Given the description of an element on the screen output the (x, y) to click on. 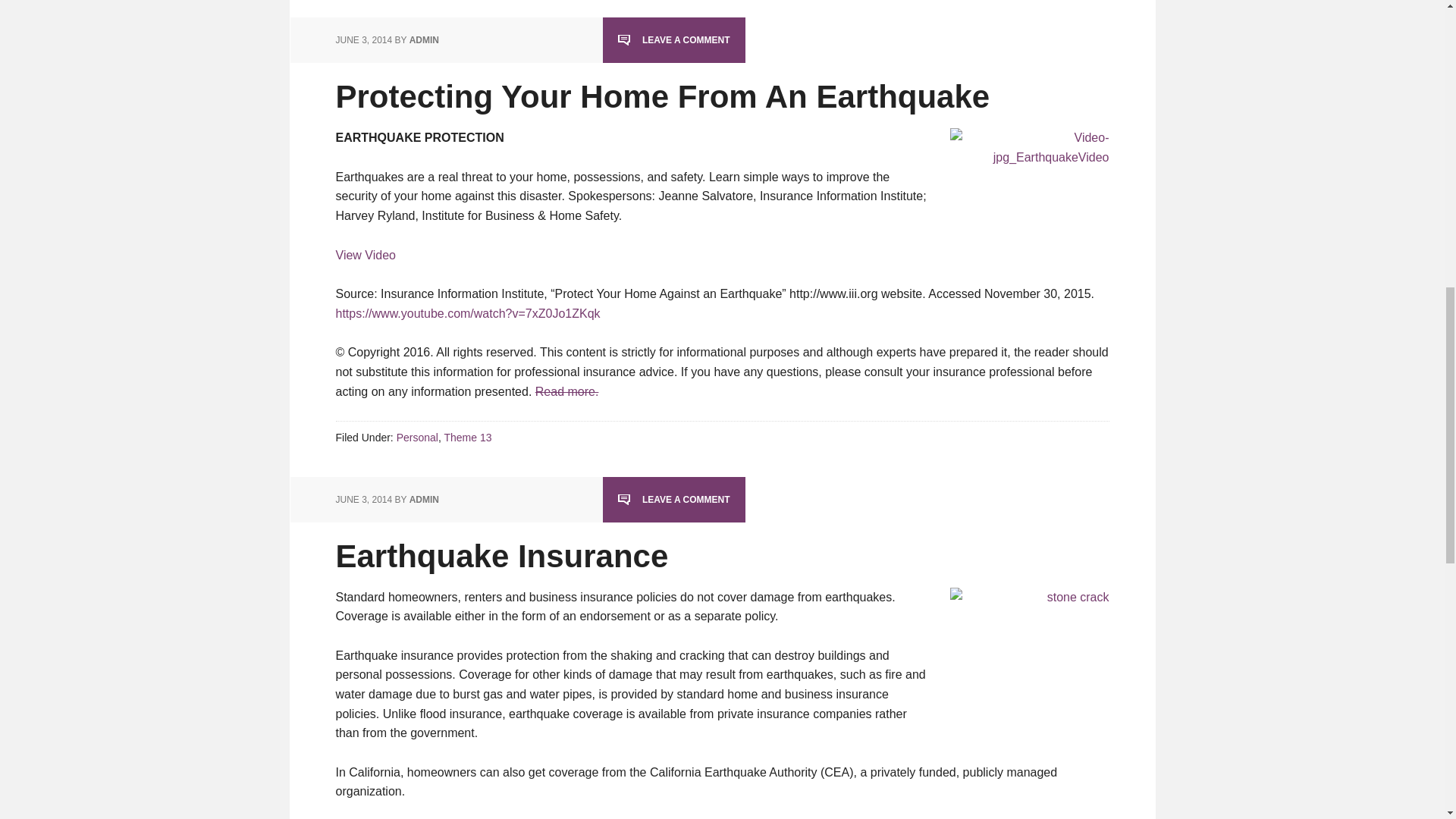
Theme 13 (468, 437)
Protecting Your Home From An Earthquake (662, 96)
ADMIN (424, 499)
View Video (364, 254)
ADMIN (424, 40)
Earthquake Insurance (501, 556)
LEAVE A COMMENT (673, 40)
Personal (417, 437)
LEAVE A COMMENT (673, 499)
Read more. (566, 391)
